Given the description of an element on the screen output the (x, y) to click on. 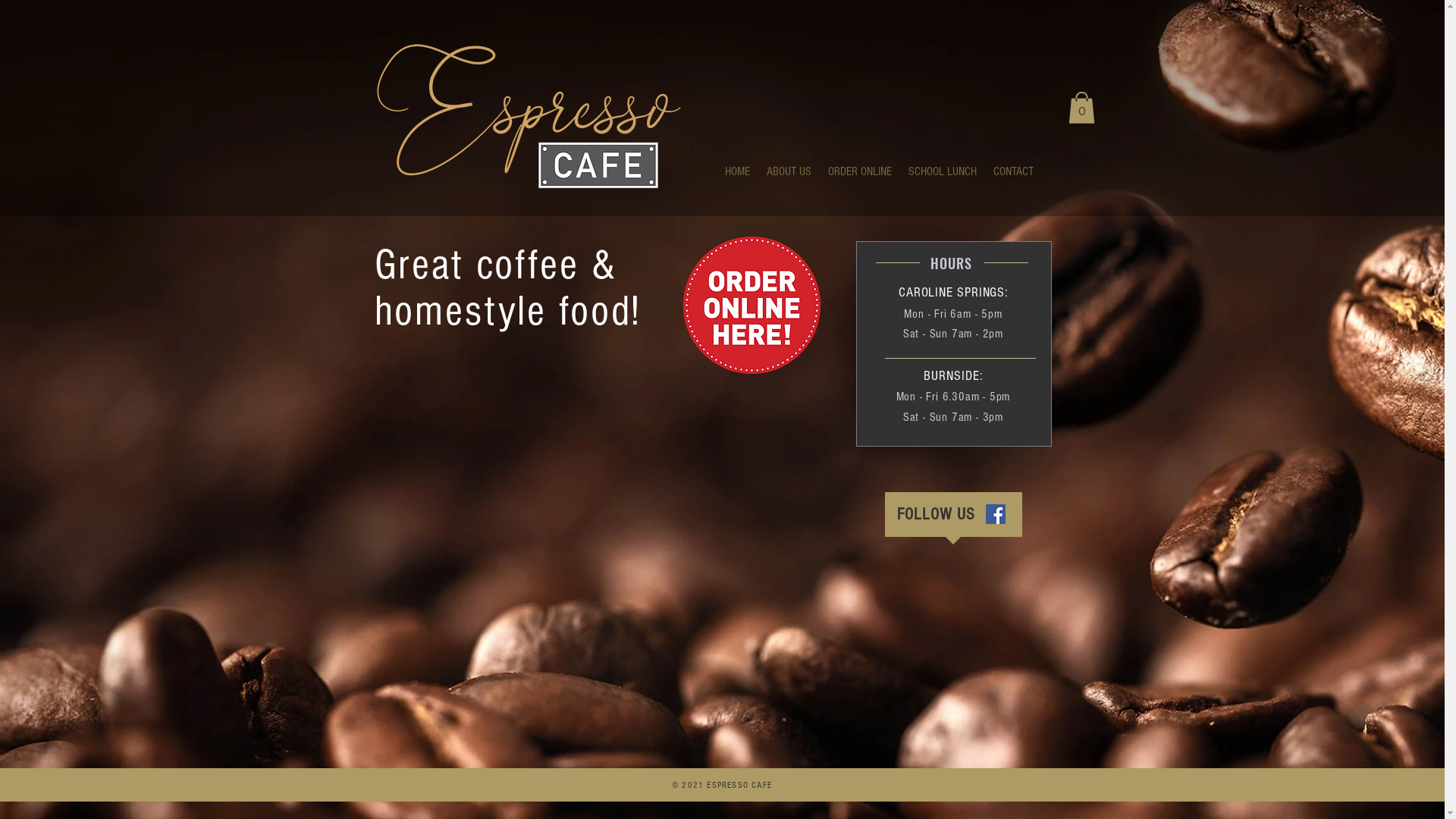
SCHOOL LUNCH Element type: text (941, 171)
HOME Element type: text (736, 171)
ABOUT US Element type: text (788, 171)
0 Element type: text (1080, 107)
CONTACT Element type: text (1012, 171)
ORDER ONLINE Element type: text (859, 171)
